Given the description of an element on the screen output the (x, y) to click on. 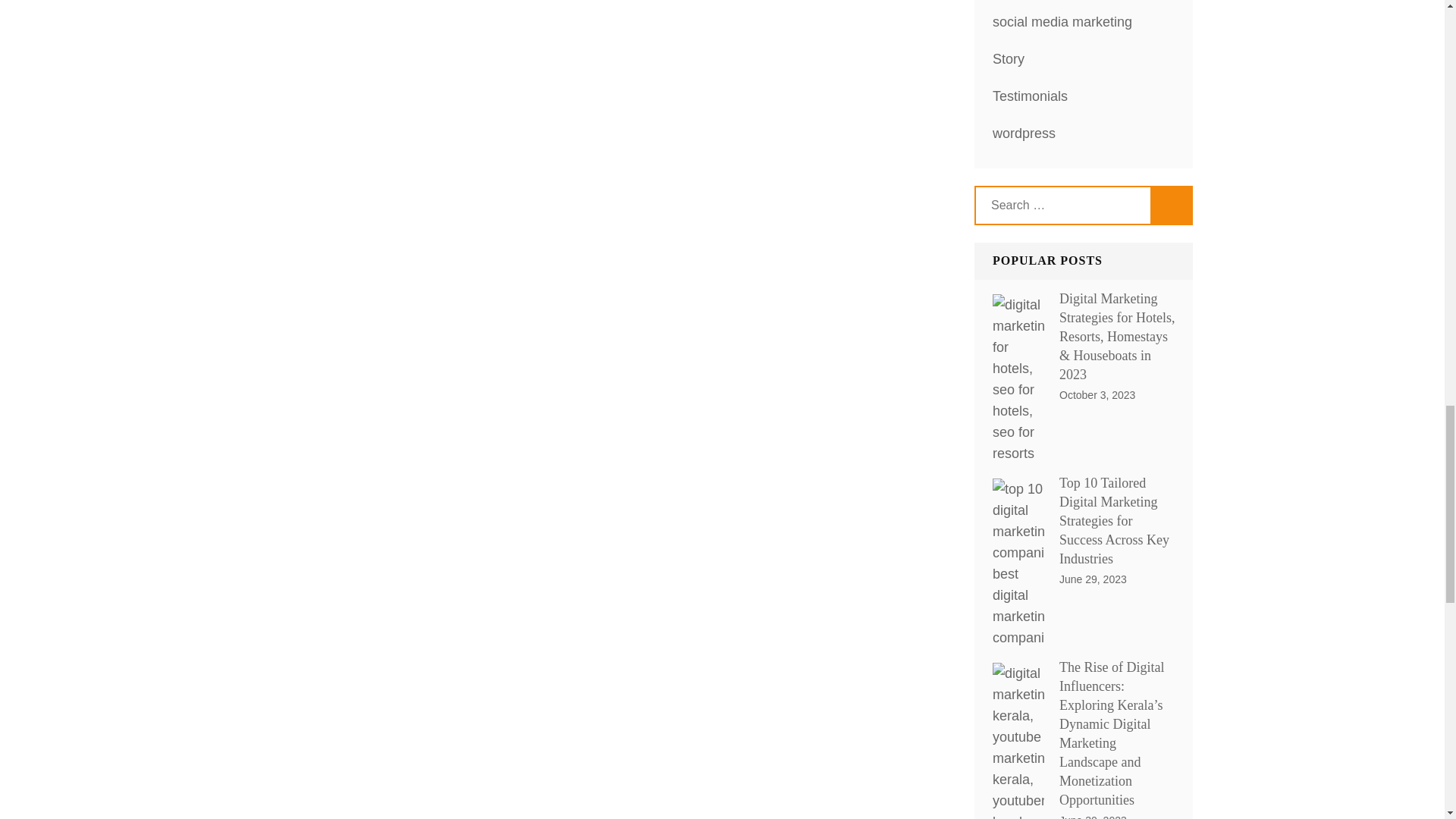
Search (1172, 205)
Search (1172, 205)
